Given the description of an element on the screen output the (x, y) to click on. 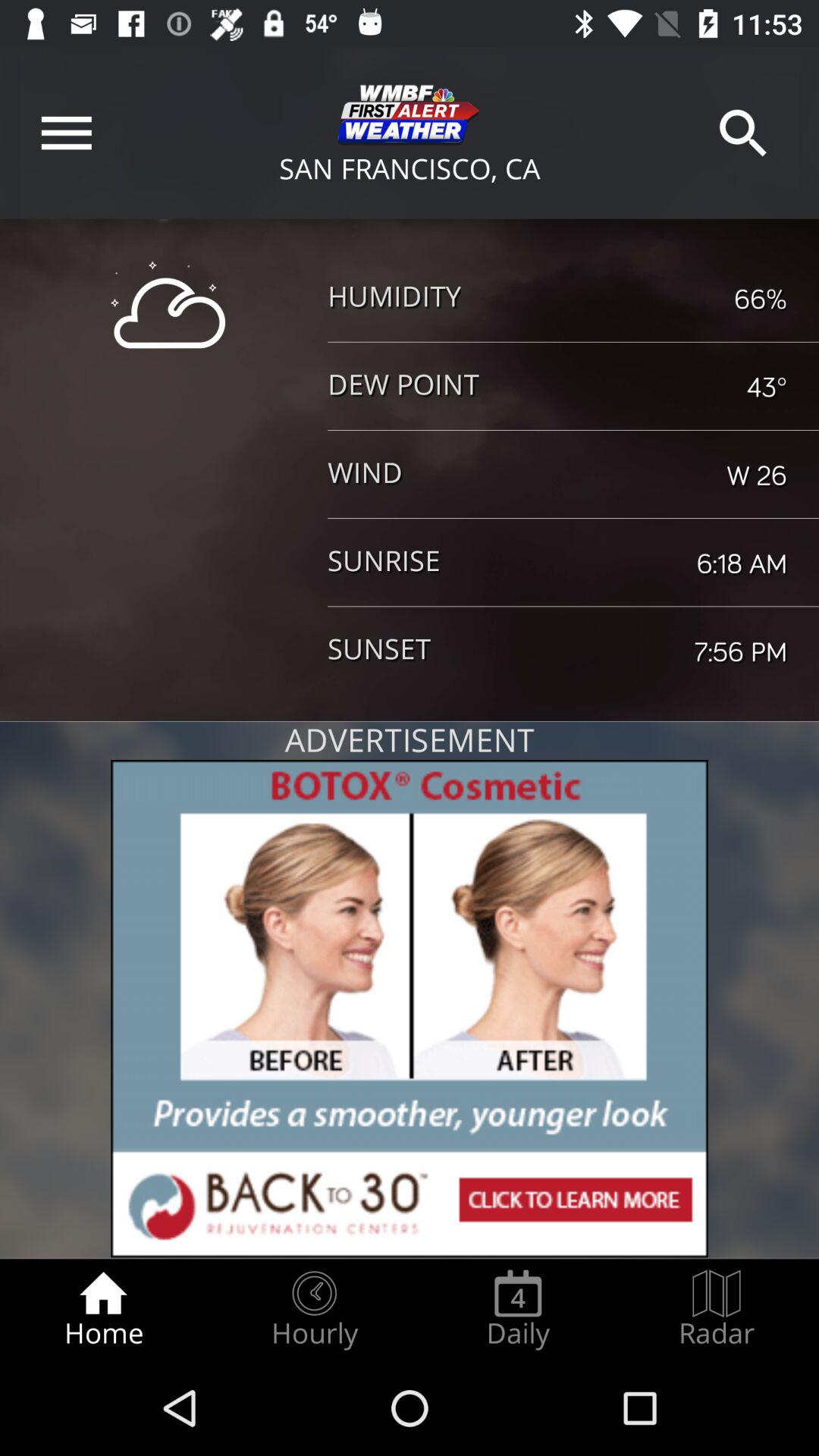
flip to the hourly (314, 1309)
